Given the description of an element on the screen output the (x, y) to click on. 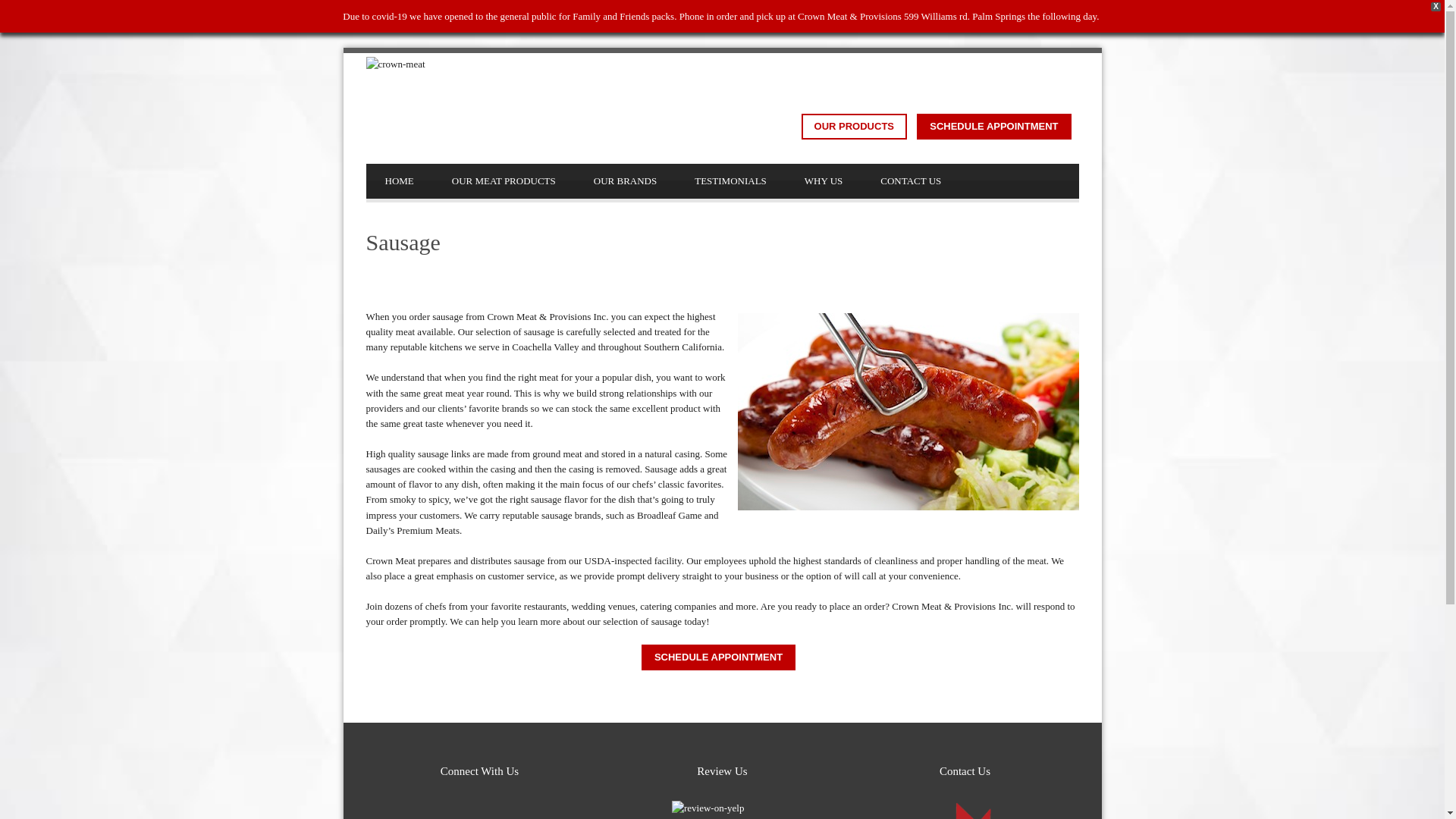
OUR PRODUCTS (854, 126)
OUR MEAT PRODUCTS (503, 181)
WHY US (823, 181)
CONTACT US (910, 181)
HOME (398, 181)
SCHEDULE APPOINTMENT (993, 126)
SCHEDULE APPOINTMENT (718, 657)
OUR BRANDS (625, 181)
Review Us (721, 809)
TESTIMONIALS (730, 181)
